Given the description of an element on the screen output the (x, y) to click on. 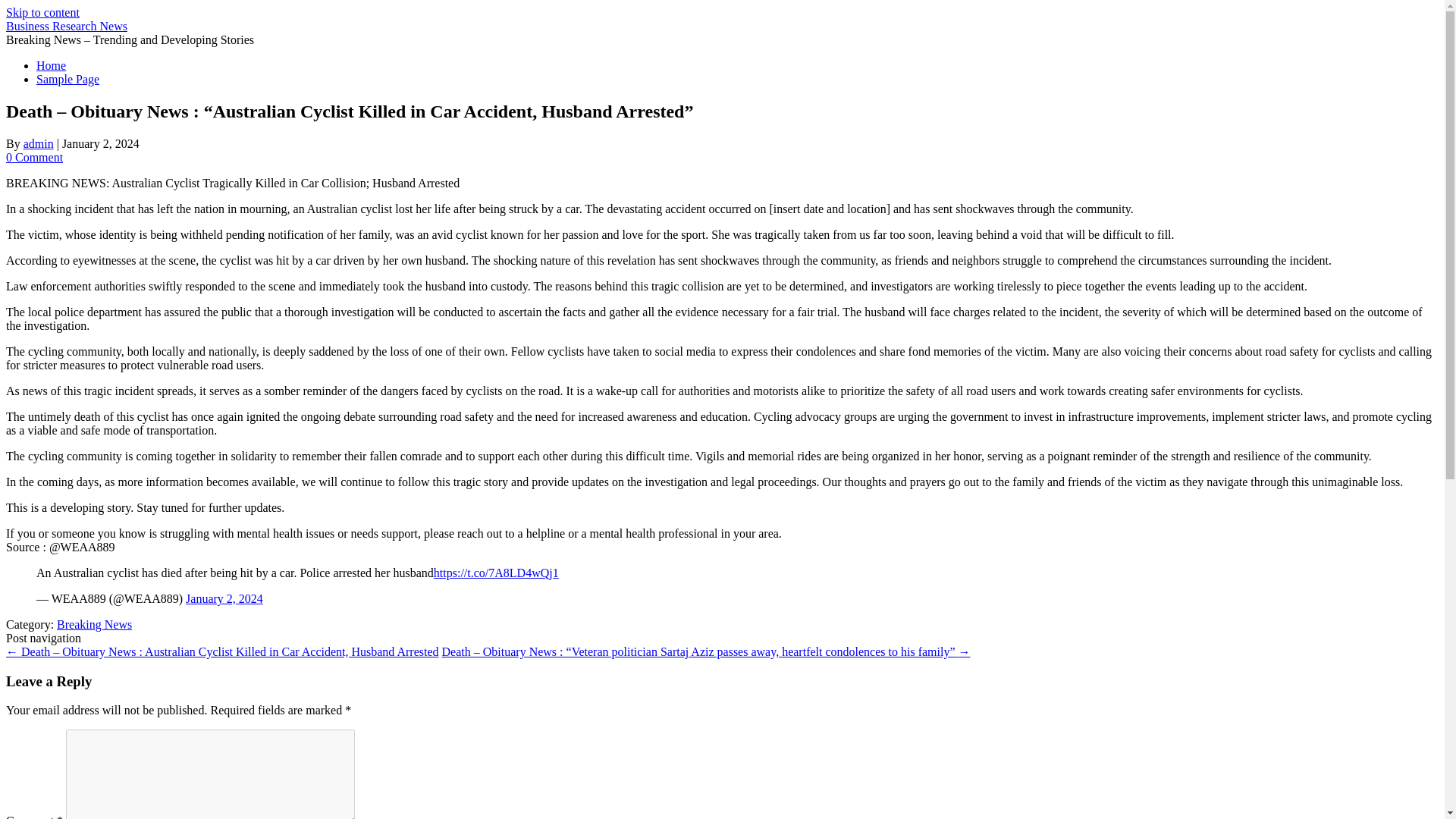
Skip to content (42, 11)
January 2, 2024 (224, 598)
0 Comment (33, 156)
Skip to content (42, 11)
Home (50, 65)
Business Research News (66, 25)
Sample Page (67, 78)
Posts by admin (38, 143)
Business Research News (66, 25)
Breaking News (94, 624)
admin (38, 143)
